Given the description of an element on the screen output the (x, y) to click on. 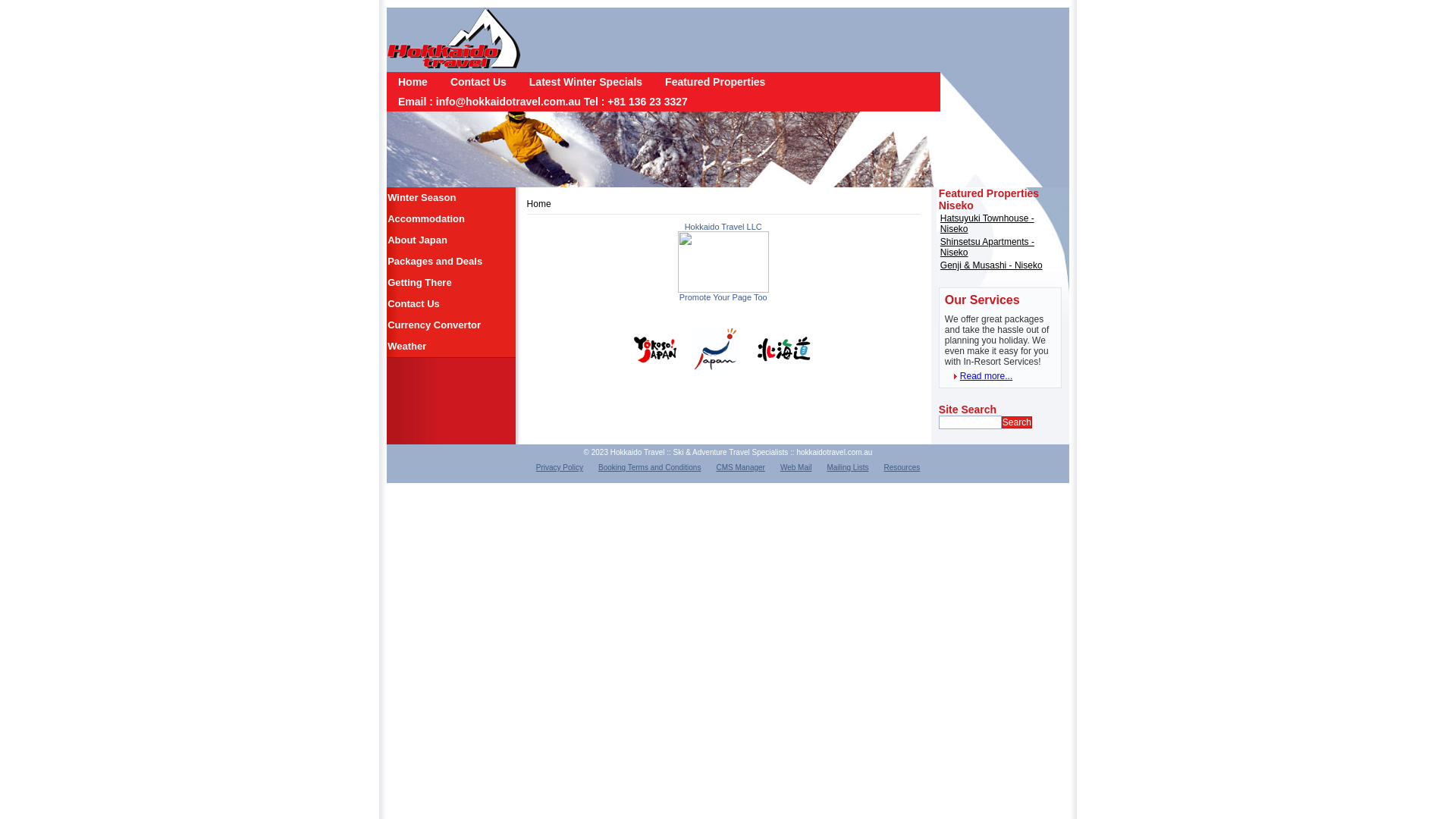
Genji & Musashi - Niseko Element type: text (991, 265)
Resources Element type: text (901, 467)
Email : info@hokkaidotravel.com.au Tel : +81 136 23 3327 Element type: text (542, 101)
Featured Properties Element type: text (714, 81)
Search Element type: text (1016, 422)
Home Element type: text (412, 81)
Latest Winter Specials Element type: text (585, 81)
Hokkaido Travel LLC Element type: hover (722, 289)
Contact Us Element type: text (478, 81)
Booking Terms and Conditions Element type: text (649, 467)
Promote Your Page Too Element type: text (723, 296)
Hokkaido Travel LLC Element type: text (723, 226)
Shinsetsu Apartments - Niseko Element type: text (987, 246)
CMS Manager Element type: text (739, 467)
Mailing Lists Element type: text (847, 467)
Privacy Policy Element type: text (559, 467)
Web Mail Element type: text (796, 467)
Read more... Element type: text (978, 375)
Hatsuyuki Townhouse - Niseko Element type: text (987, 223)
